Given the description of an element on the screen output the (x, y) to click on. 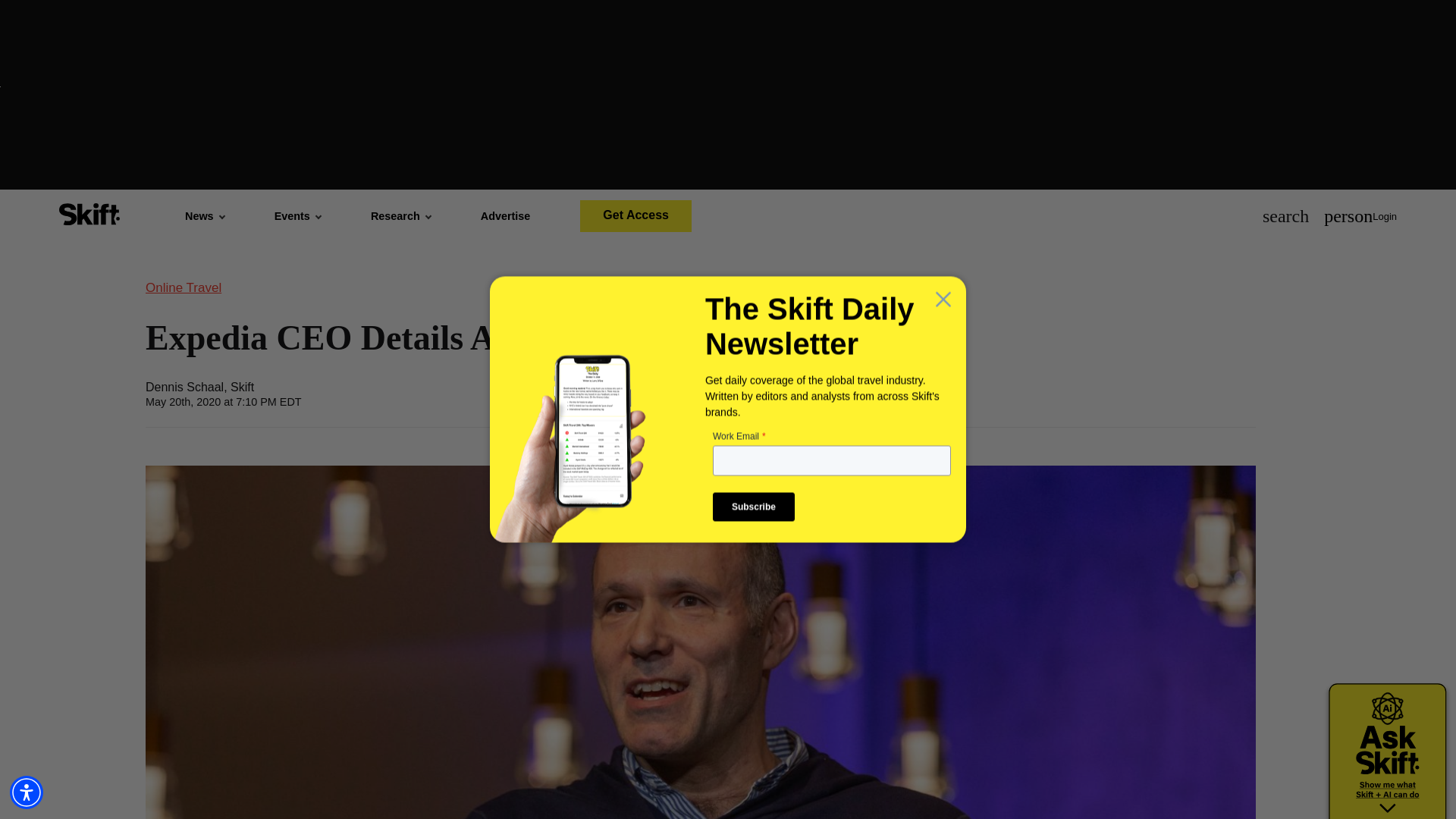
Popup CTA (727, 409)
Research (400, 215)
Accessibility Menu (26, 792)
